Given the description of an element on the screen output the (x, y) to click on. 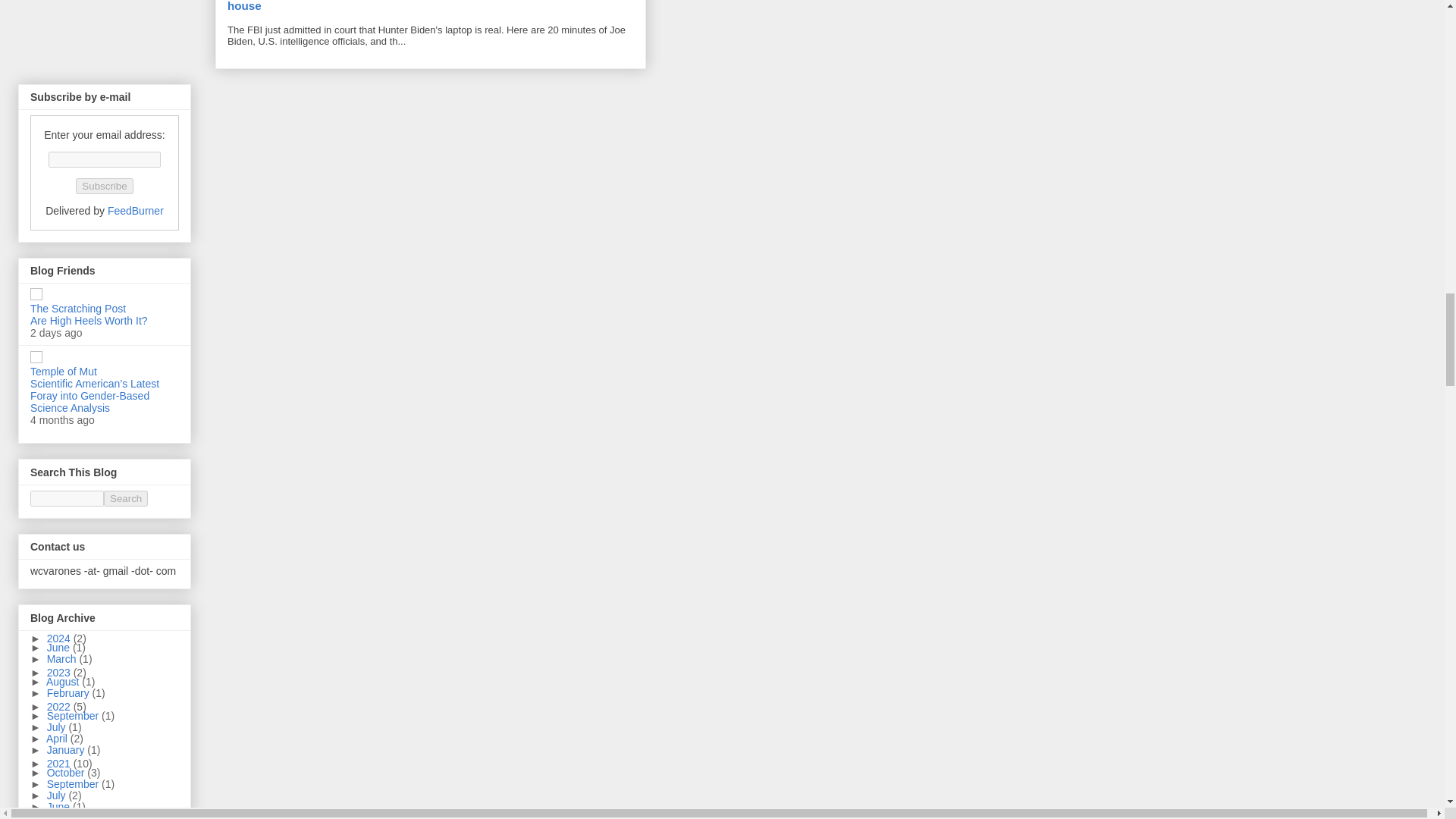
Temple of Mut (63, 371)
February (69, 693)
The Scratching Post (77, 308)
FeedBurner (135, 210)
March (63, 658)
Search (125, 498)
Search (125, 498)
Are High Heels Worth It? (89, 320)
search (125, 498)
2024 (60, 638)
August (63, 681)
June (59, 647)
Subscribe (103, 186)
2023 (60, 672)
